Given the description of an element on the screen output the (x, y) to click on. 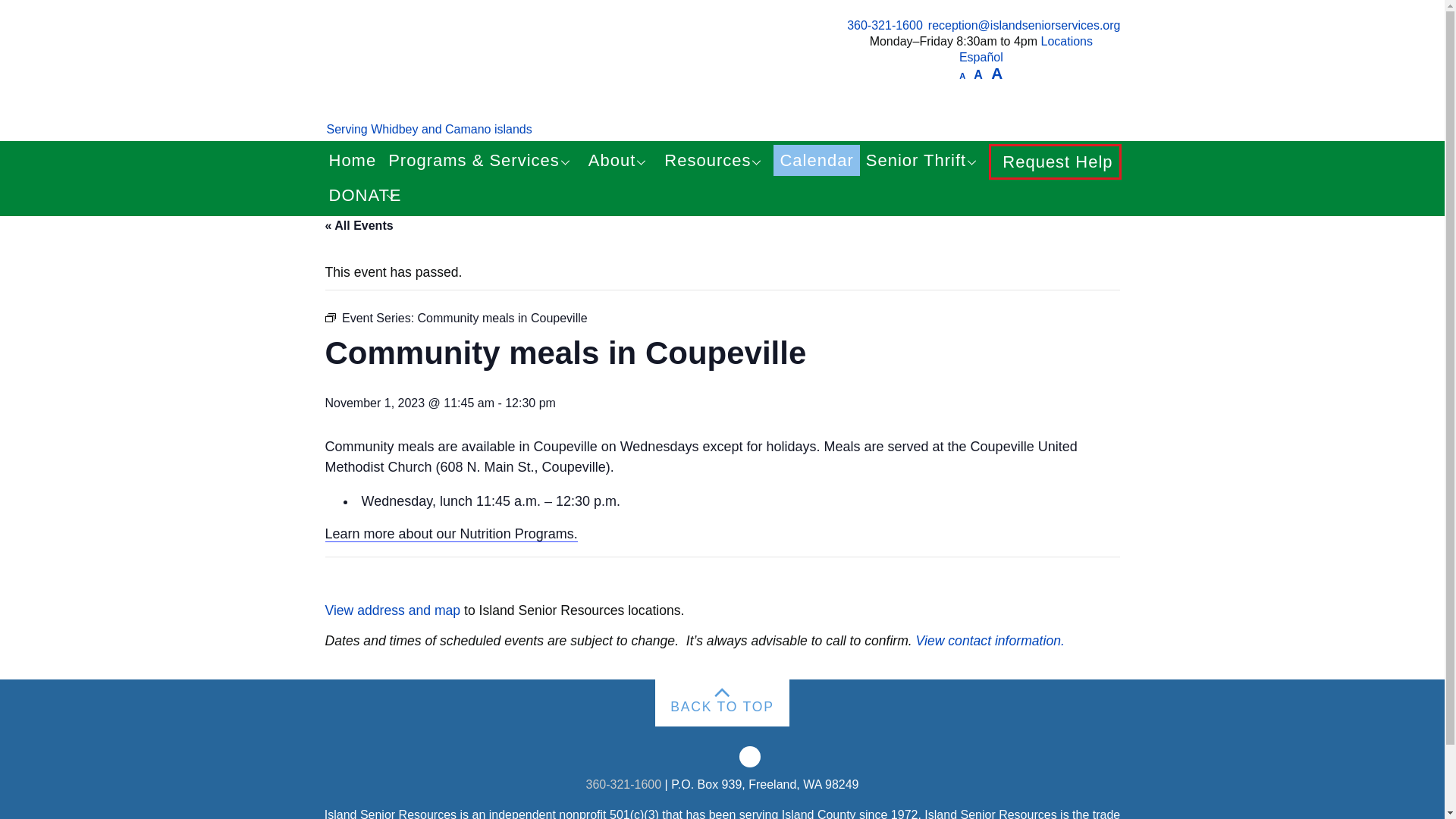
Home (352, 160)
Event Series (329, 317)
Locations (1067, 41)
360-321-1600 (885, 24)
About (620, 160)
Serving Whidbey and Camano islands (428, 128)
